Given the description of an element on the screen output the (x, y) to click on. 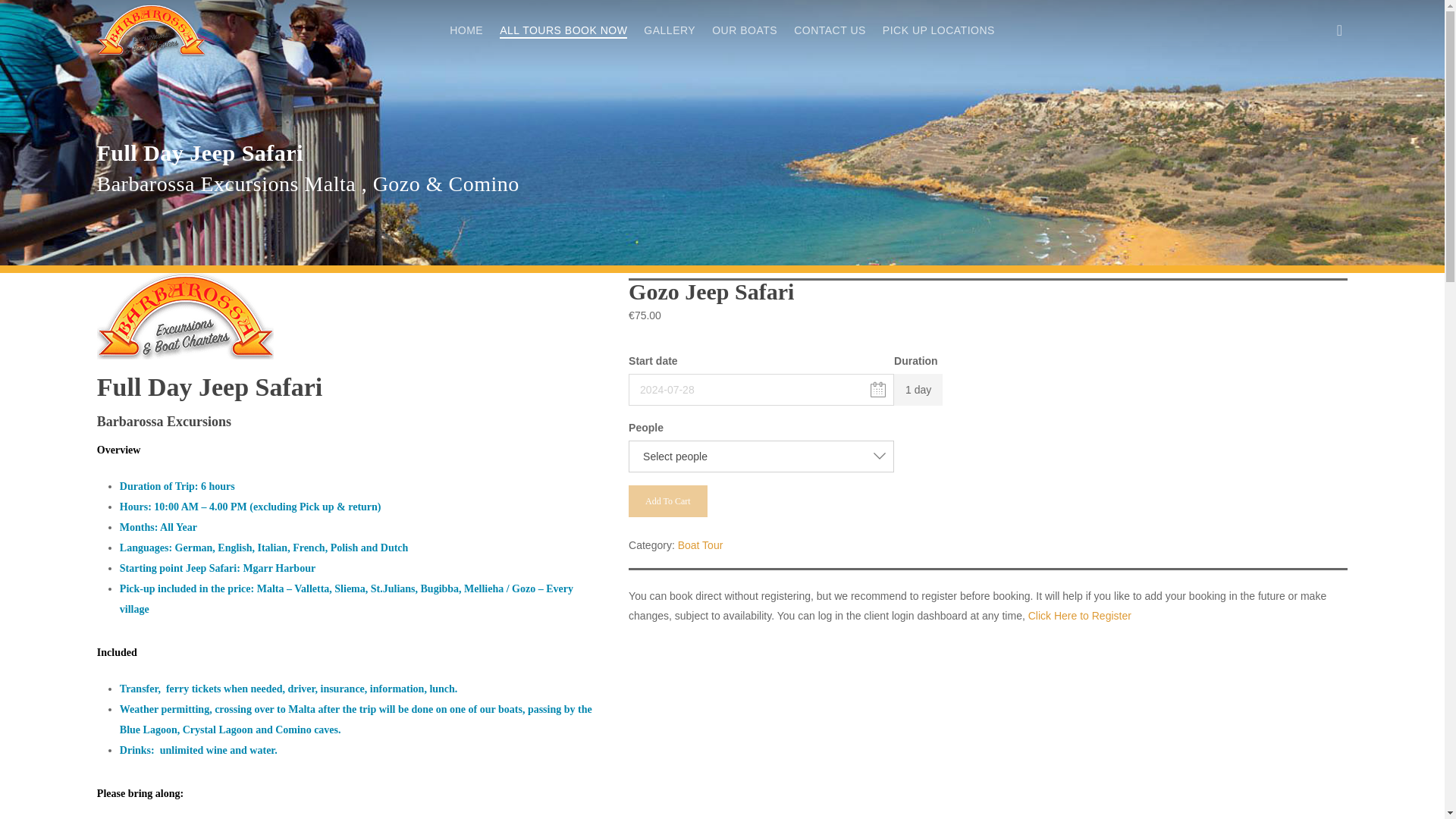
CONTACT US (829, 29)
Boat Tour (700, 544)
ALL TOURS BOOK NOW (563, 29)
PICK UP LOCATIONS (938, 29)
Click Here to Register (1079, 615)
2024-07-28 (760, 389)
Add To Cart (667, 500)
HOME (466, 29)
GALLERY (669, 29)
OUR BOATS (744, 29)
